Given the description of an element on the screen output the (x, y) to click on. 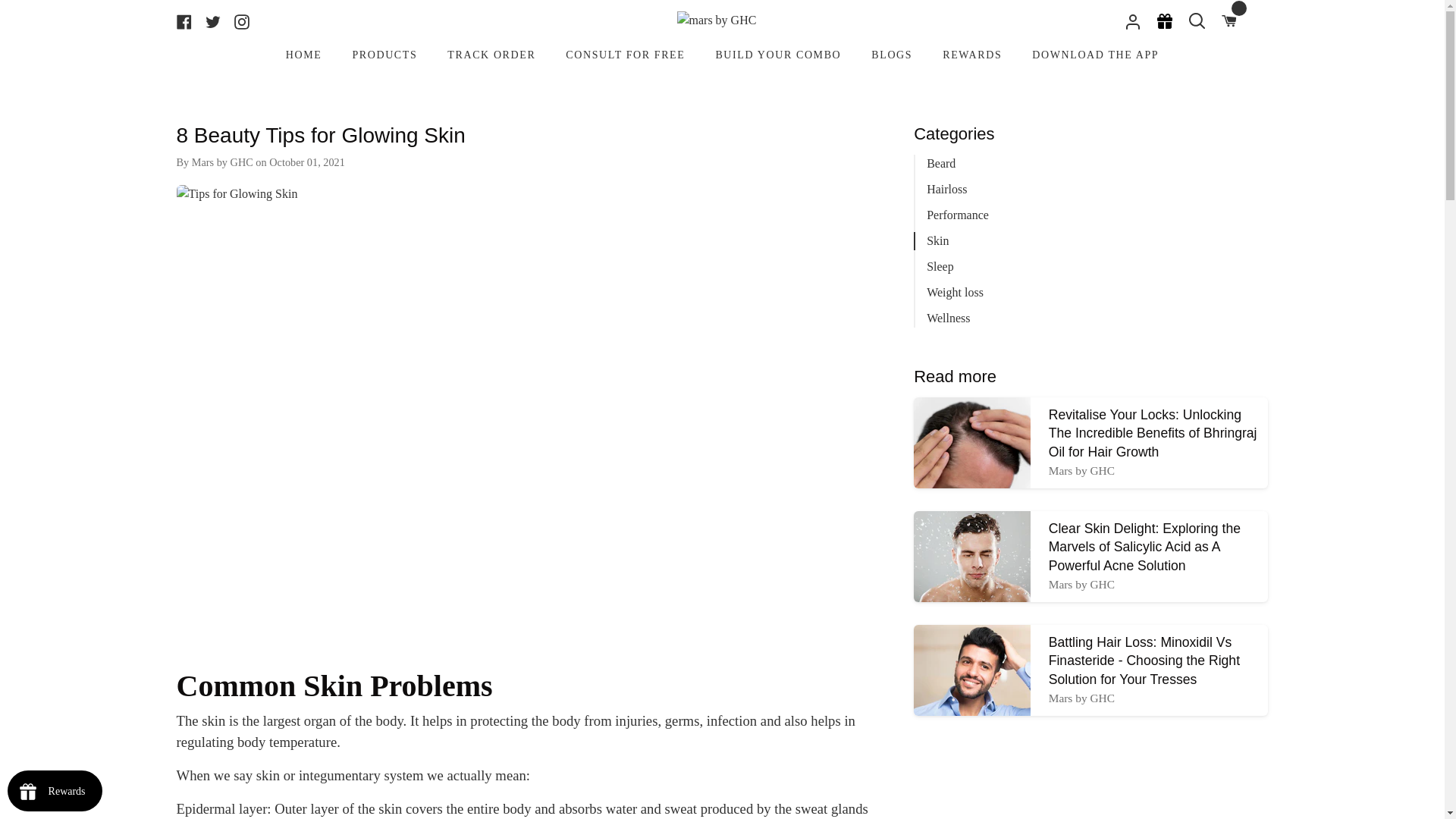
Instagram (241, 20)
My Account (1128, 21)
PRODUCTS (384, 58)
mars by GHC on Instagram (241, 20)
CONSULT FOR FREE (625, 58)
Shopping Cart (1228, 21)
TRACK ORDER (491, 58)
HOME (303, 58)
BLOGS (891, 58)
Facebook (187, 20)
REWARDS (971, 58)
mars by GHC on Facebook (187, 20)
mars by GHC on Twitter (212, 20)
Search (1195, 21)
Shopping Cart (1228, 21)
